Given the description of an element on the screen output the (x, y) to click on. 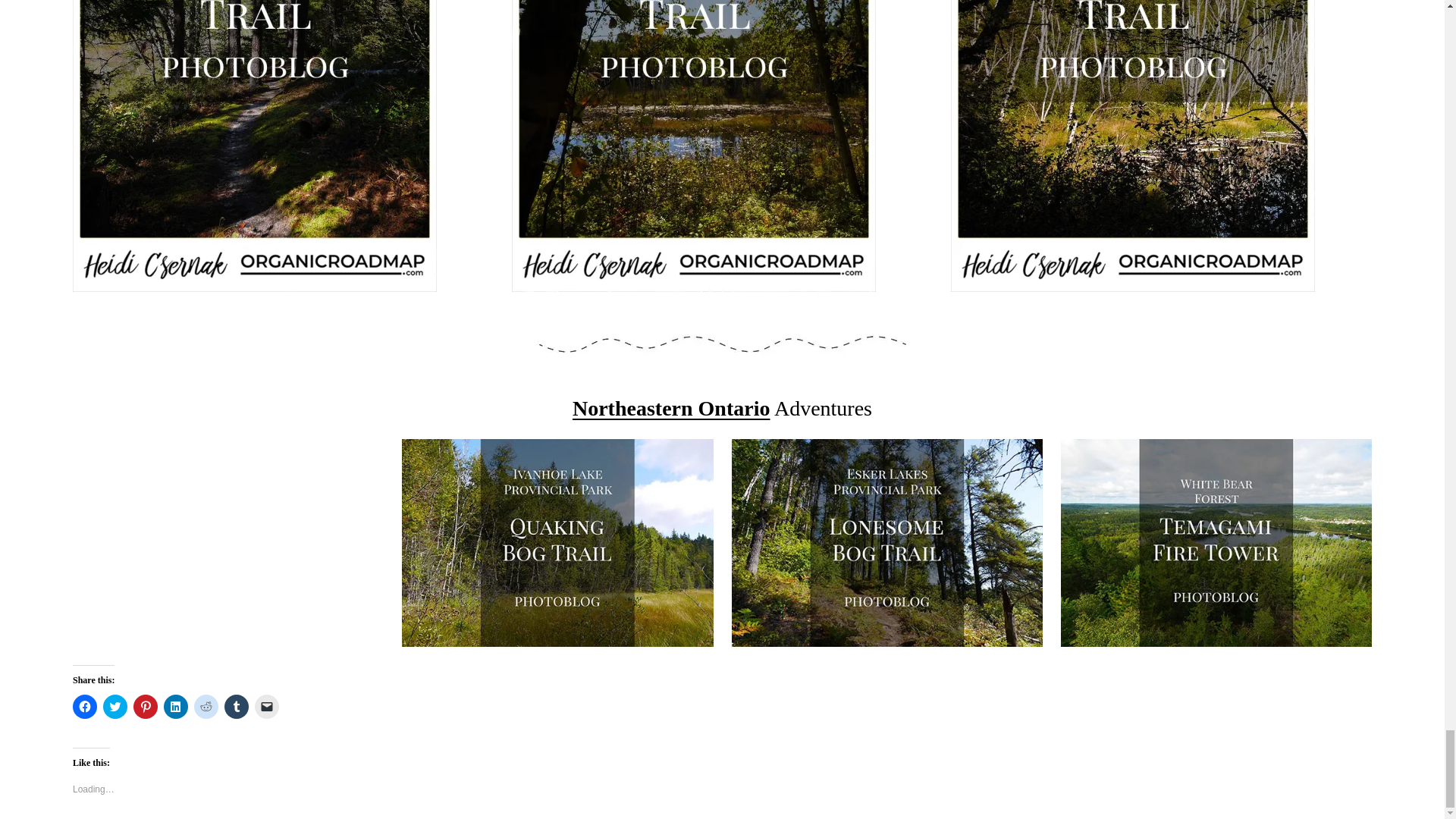
Click to share on Pinterest (145, 706)
Click to email a link to a friend (266, 706)
Click to share on LinkedIn (175, 706)
Click to share on Twitter (115, 706)
Click to share on Reddit (205, 706)
Click to share on Tumblr (236, 706)
Click to share on Facebook (84, 706)
